Given the description of an element on the screen output the (x, y) to click on. 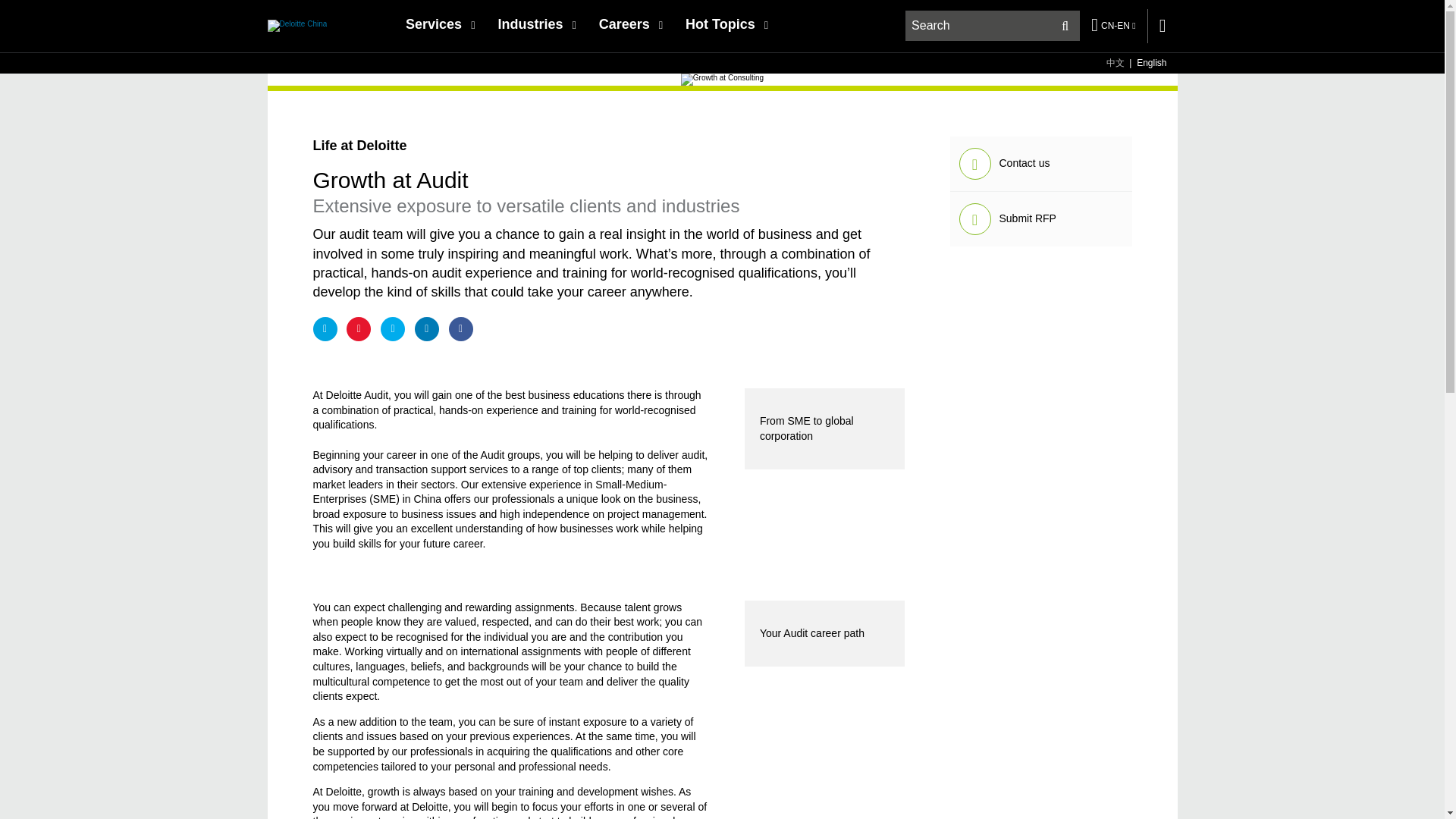
search (992, 25)
Services (440, 24)
Share via... (358, 328)
Share via... (324, 328)
Share via... (392, 328)
Share via... (460, 328)
Share via... (426, 328)
Search (1064, 25)
Deloitte China (296, 25)
